Given the description of an element on the screen output the (x, y) to click on. 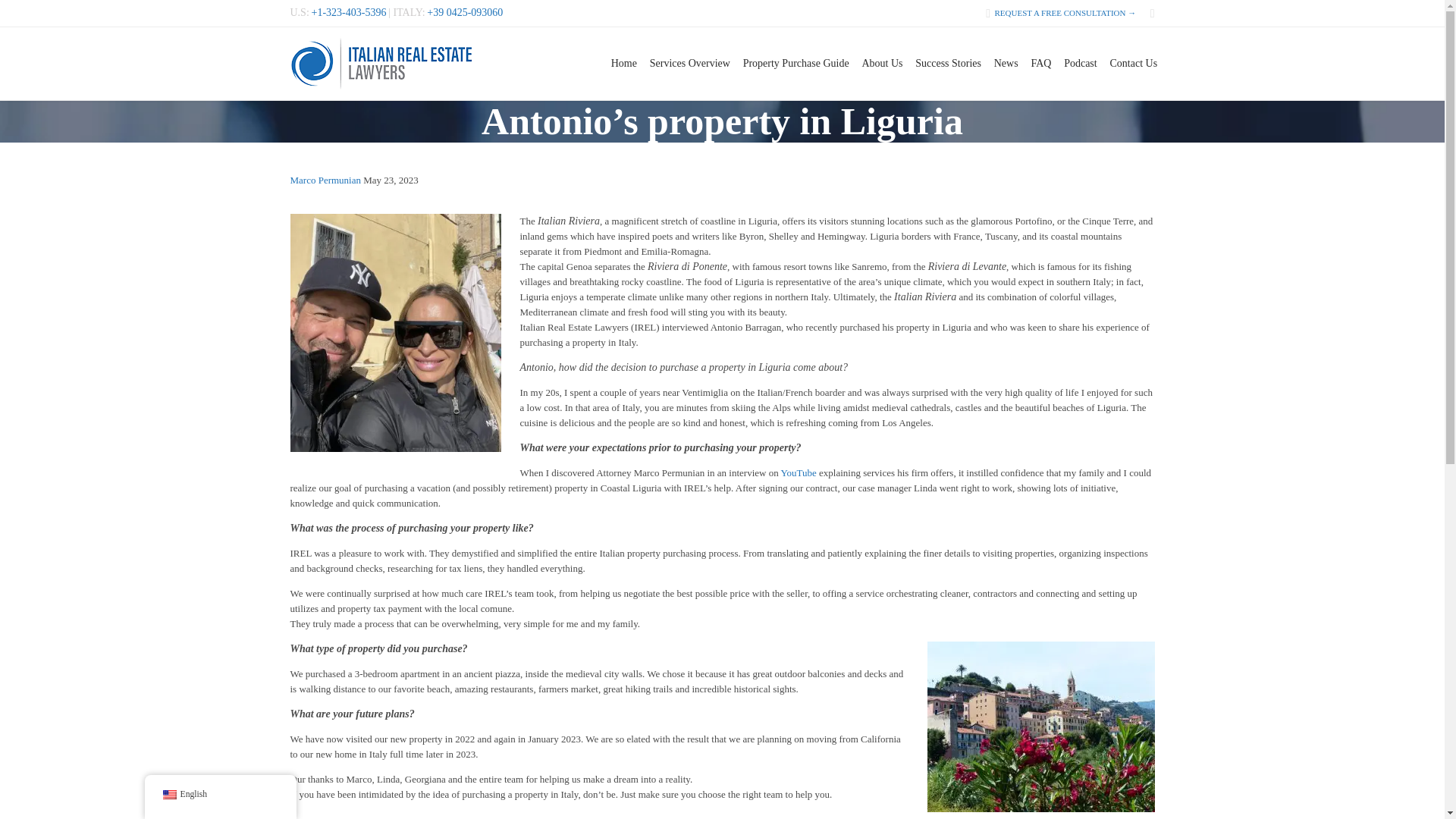
Marco Permunian (325, 179)
Podcast (1080, 63)
Home (623, 63)
Posts by Marco Permunian (325, 179)
YouTube (797, 472)
English (168, 794)
FAQ (1041, 63)
News (1006, 63)
